Given the description of an element on the screen output the (x, y) to click on. 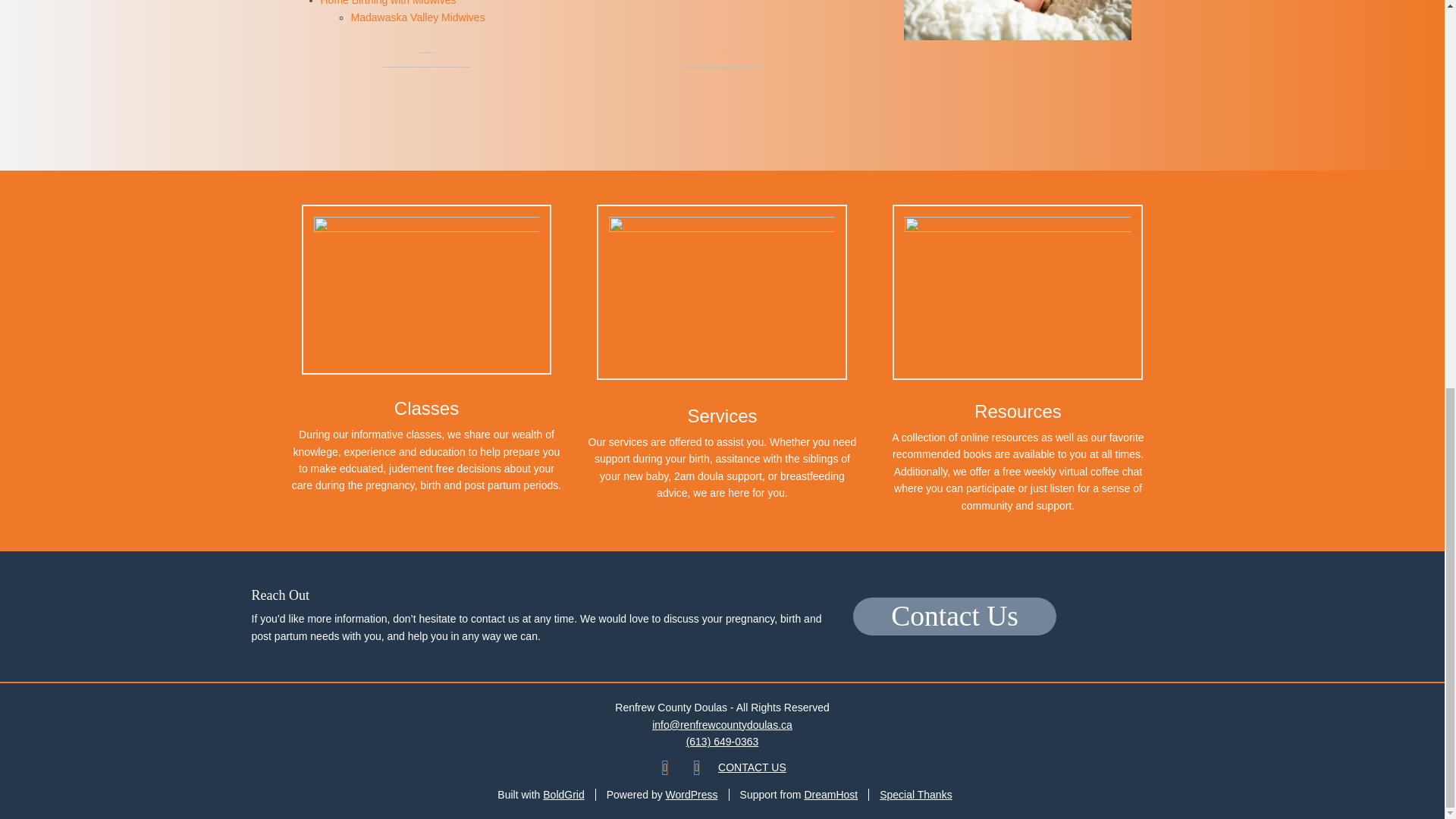
Services (722, 415)
Resources (1017, 411)
Classes (426, 408)
Facebook (664, 767)
Madawaska Valley Midwives (417, 17)
Association for Ontario Midwives (387, 2)
Home Birthing with Midwives (387, 2)
Madawaska Valley Midwives (417, 17)
